Given the description of an element on the screen output the (x, y) to click on. 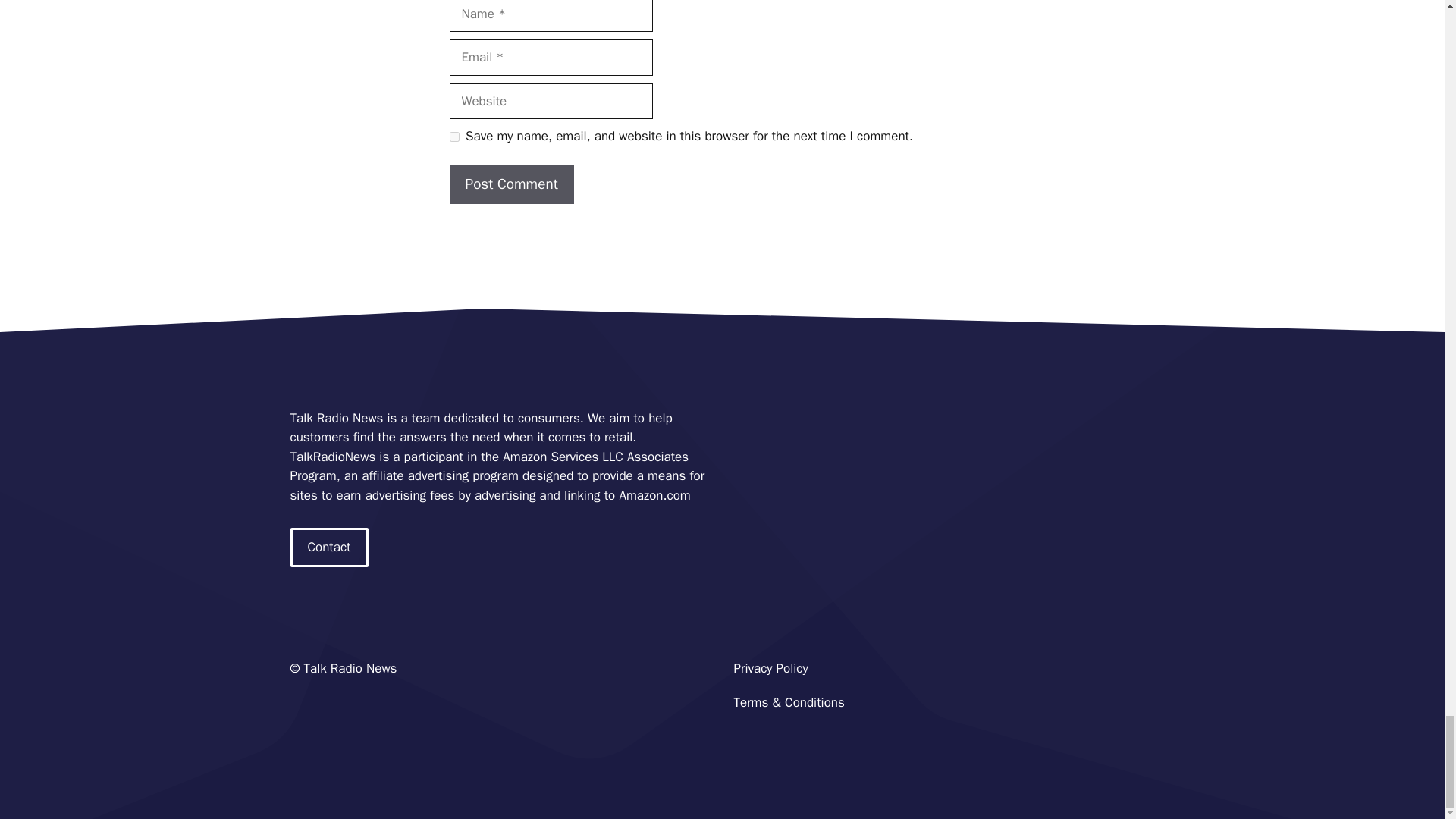
Post Comment (510, 184)
Privacy Policy (770, 668)
Post Comment (510, 184)
yes (453, 136)
Contact (328, 547)
